Given the description of an element on the screen output the (x, y) to click on. 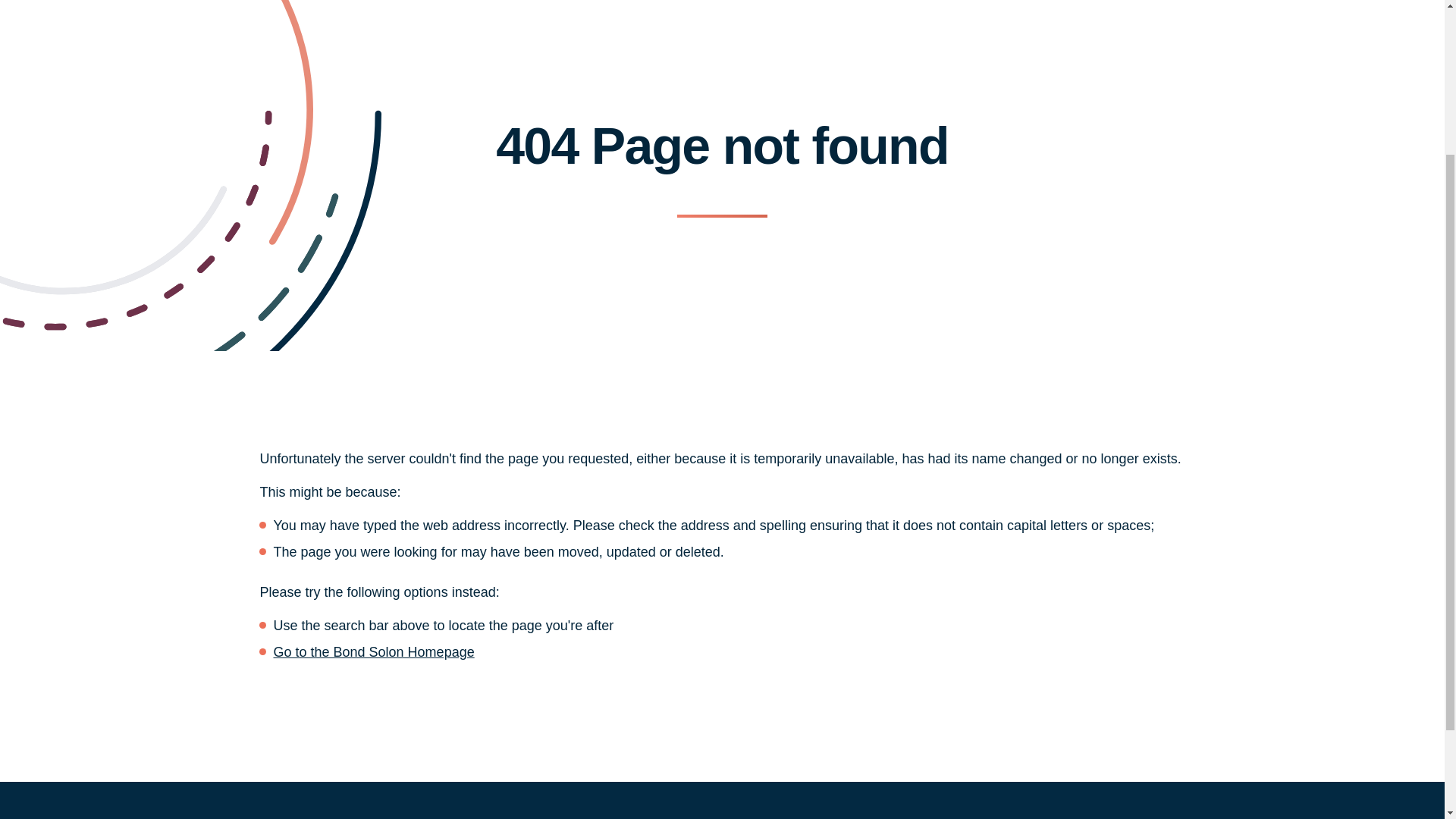
bondsolon.com (373, 652)
